Given the description of an element on the screen output the (x, y) to click on. 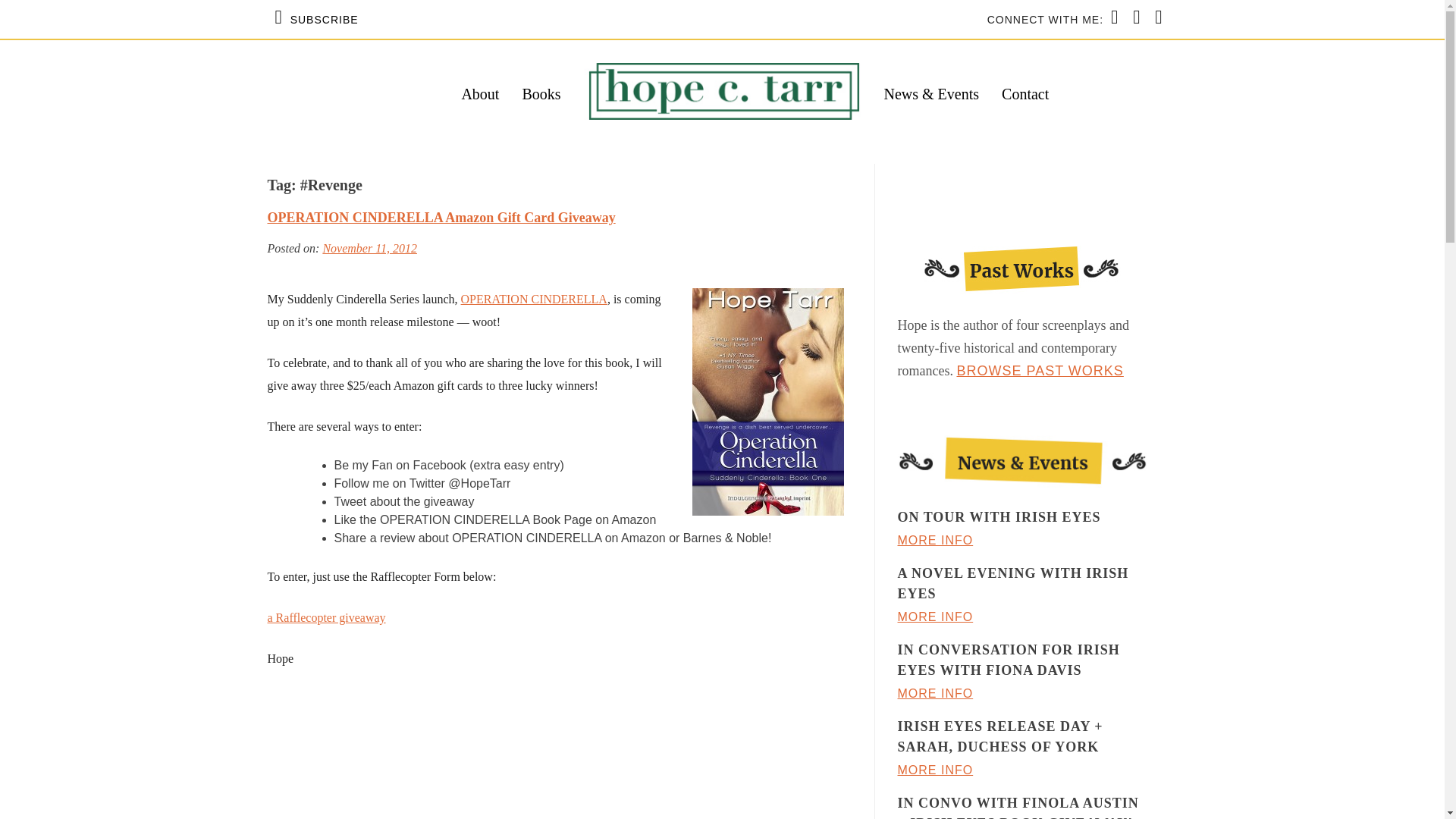
November 11, 2012 (368, 247)
About (480, 93)
Contact (1024, 93)
OPERATION CINDERELLA Amazon Gift Card Giveaway (440, 217)
SUBSCRIBE (316, 19)
Books (541, 93)
OPERATION CINDERELLA (534, 298)
a Rafflecopter giveaway (325, 617)
